Given the description of an element on the screen output the (x, y) to click on. 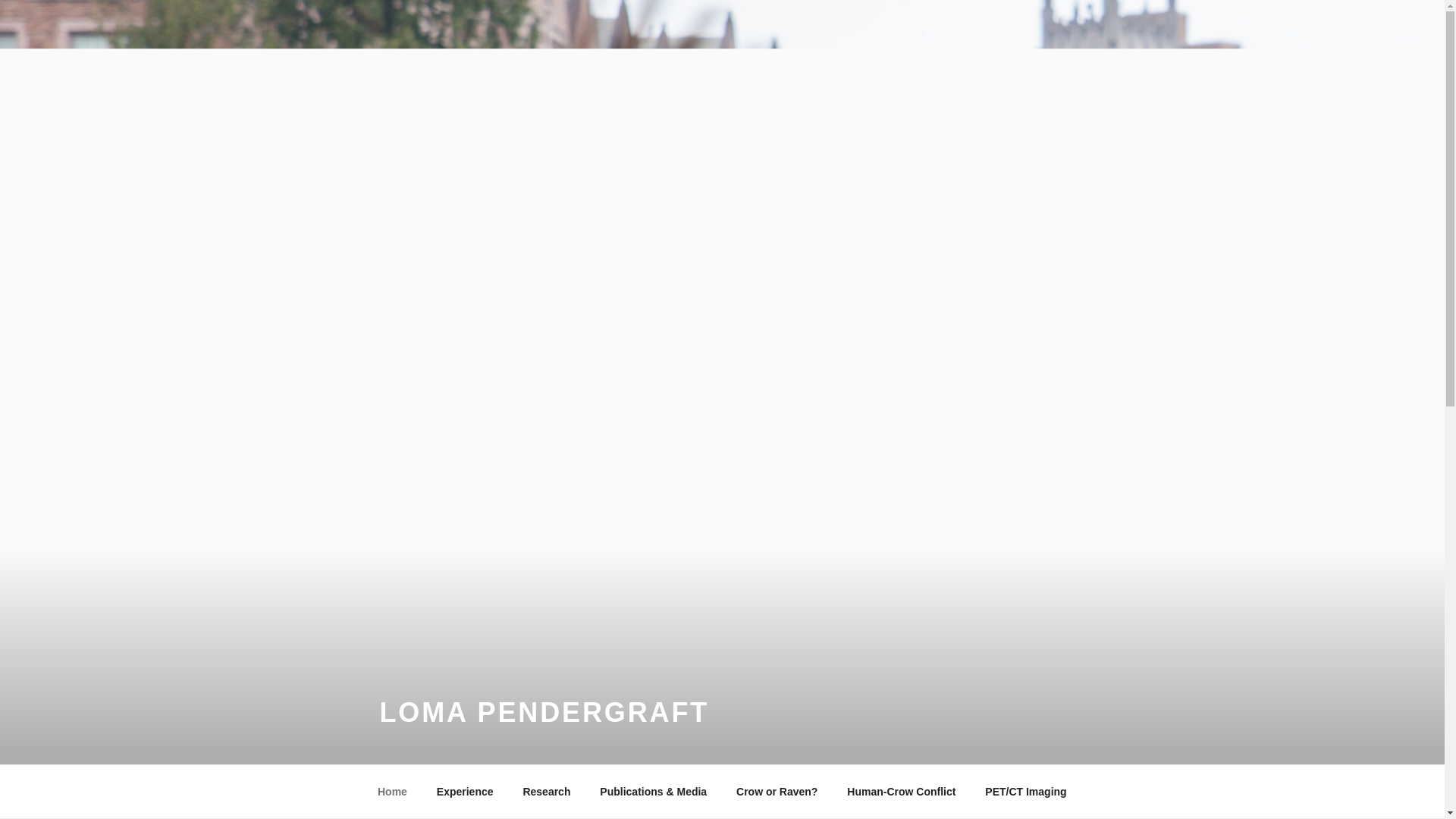
Research (546, 791)
Human-Crow Conflict (901, 791)
Experience (464, 791)
LOMA PENDERGRAFT (543, 712)
Scroll down to content (1082, 791)
Crow or Raven? (777, 791)
Home (392, 791)
Scroll down to content (1082, 791)
